Given the description of an element on the screen output the (x, y) to click on. 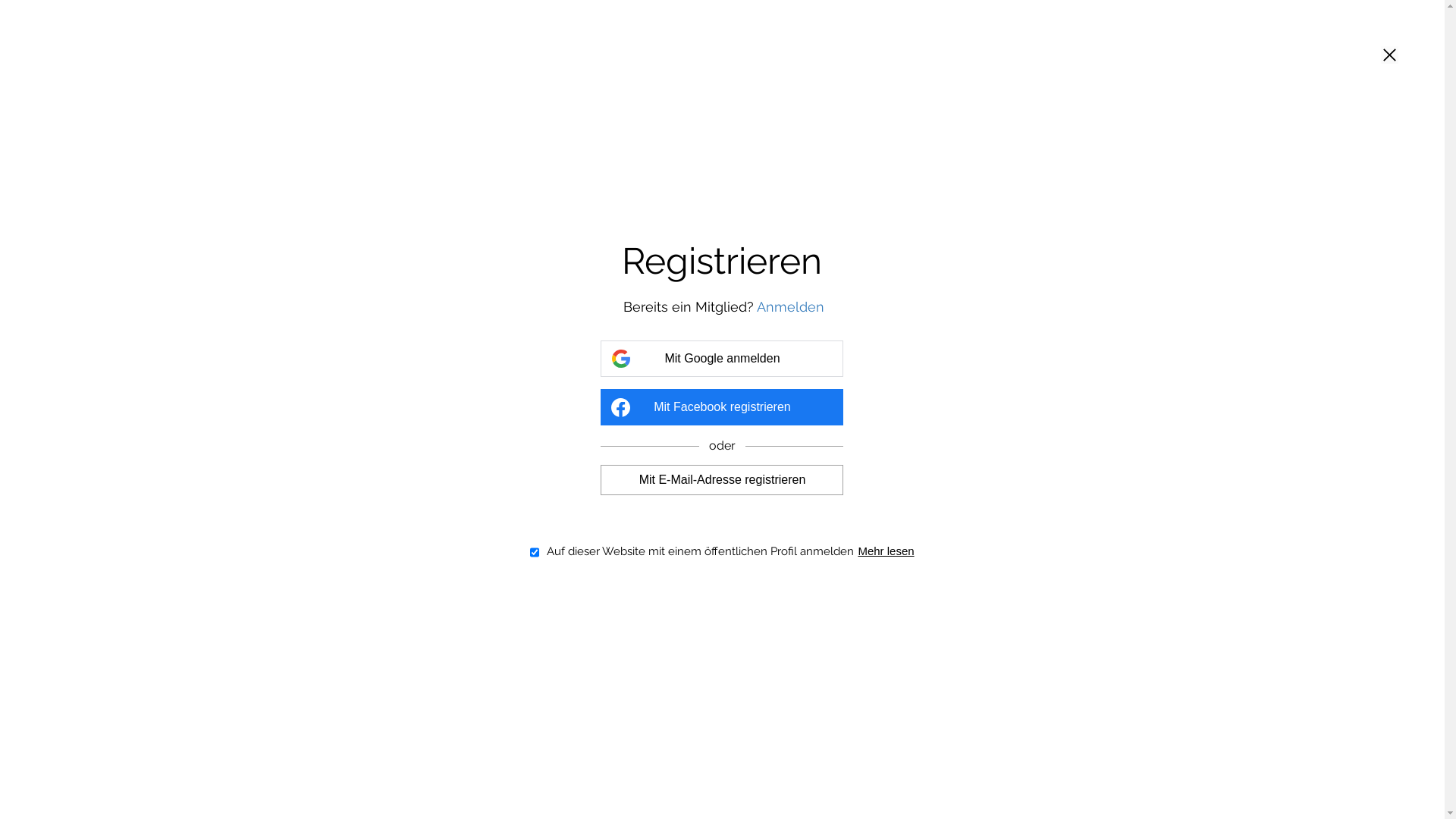
Anmelden Element type: text (790, 306)
Mit E-Mail-Adresse registrieren Element type: text (721, 479)
Mehr lesen Element type: text (885, 550)
Mit Facebook registrieren Element type: text (721, 407)
Mit Google anmelden Element type: text (721, 358)
